Given the description of an element on the screen output the (x, y) to click on. 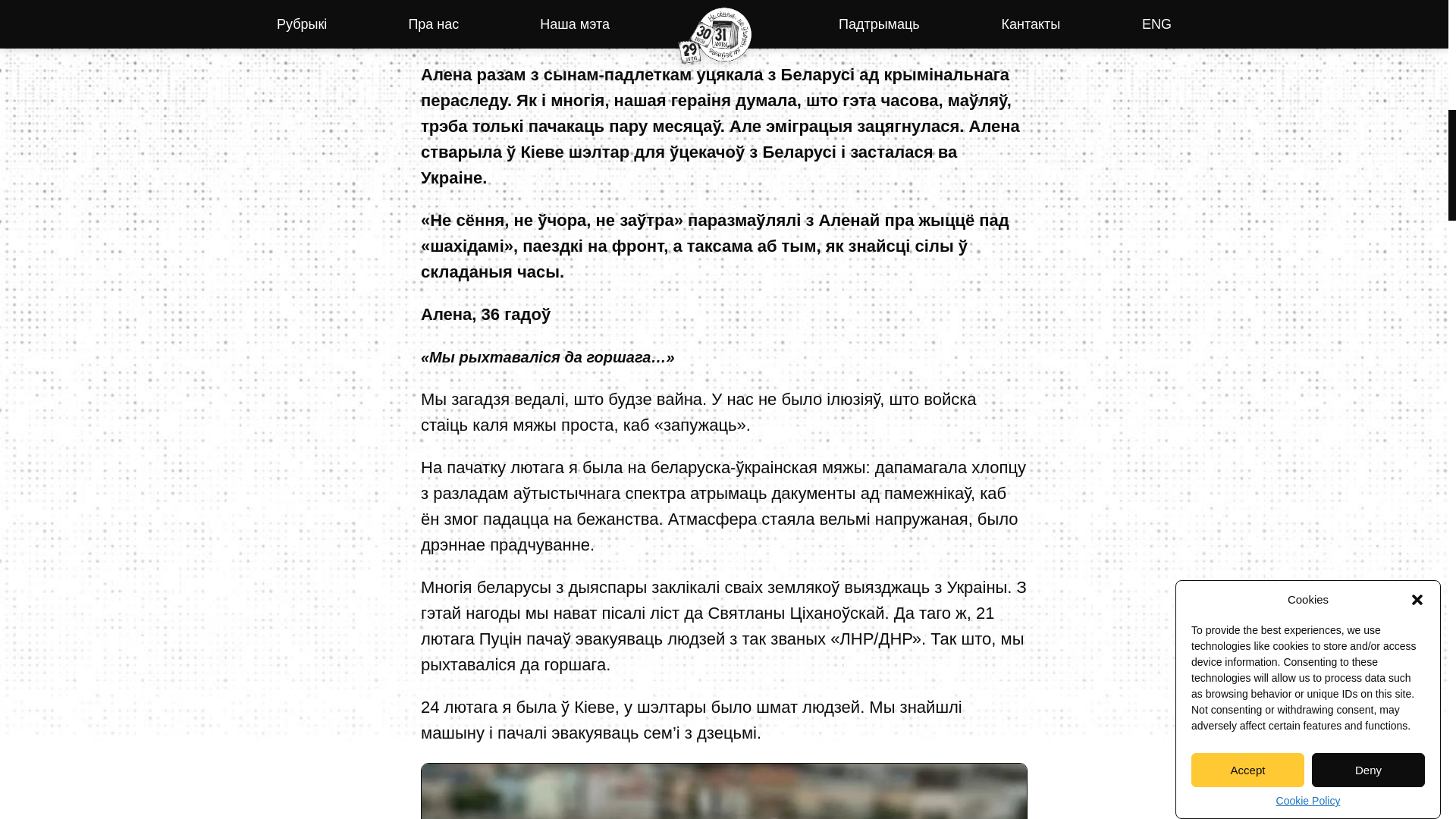
Deny (1368, 239)
Cookie Policy (1308, 143)
Accept (1247, 254)
